Given the description of an element on the screen output the (x, y) to click on. 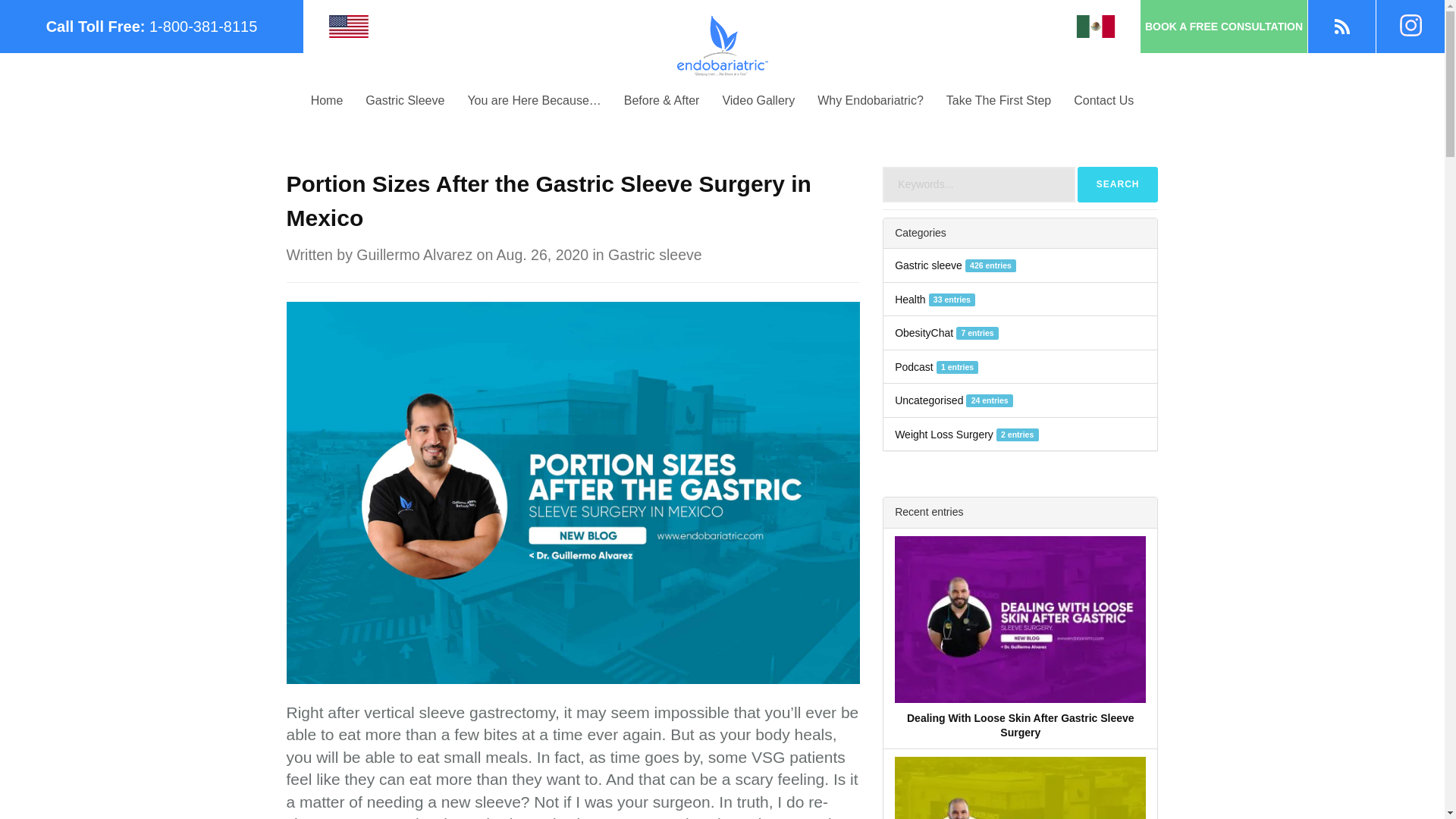
Portion Sizes After the Gastric Sleeve Surgery in Mexico (573, 491)
1-800-381-8115 (203, 26)
Home (327, 100)
BOOK A FREE CONSULTATION (1223, 26)
Why Endobariatric? (870, 100)
English (348, 26)
Video Gallery (758, 100)
Gastric Sleeve (404, 100)
